Given the description of an element on the screen output the (x, y) to click on. 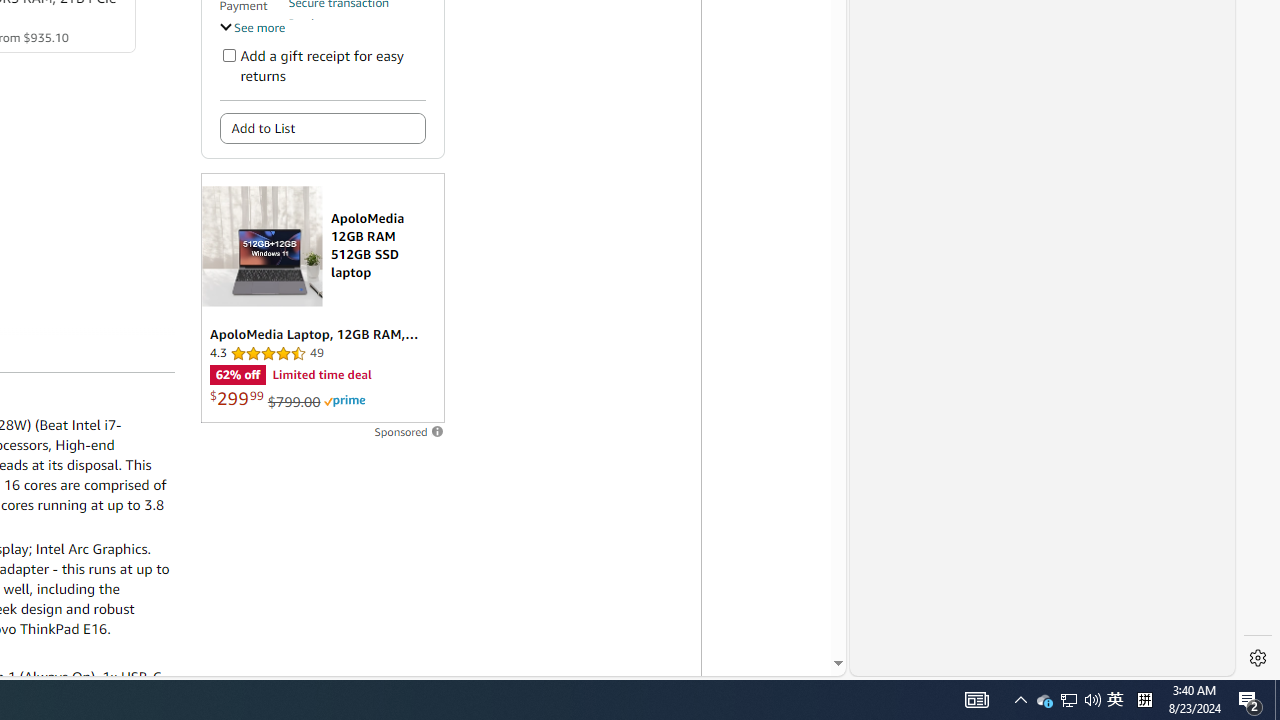
Sponsored ad (322, 297)
Prime (344, 400)
Add to List (322, 128)
See more (251, 26)
Product support included (357, 31)
Add a gift receipt for easy returns (228, 54)
